Given the description of an element on the screen output the (x, y) to click on. 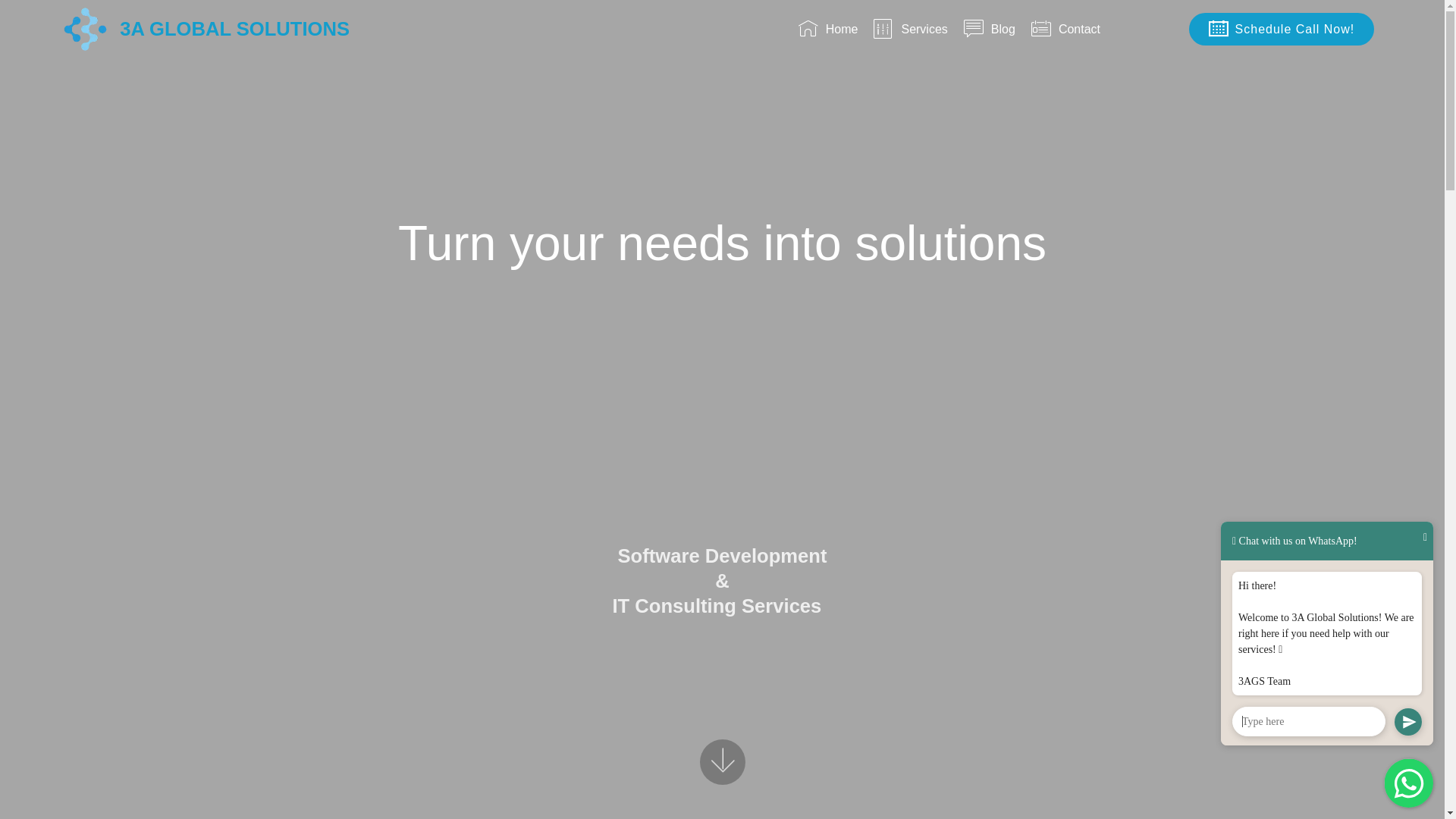
Services Element type: text (910, 28)
Home Element type: text (828, 28)
Blog Element type: text (989, 28)
Contact                      Element type: text (1101, 28)
3A GLOBAL SOLUTIONS Element type: text (246, 28)
Schedule Call Now! Element type: text (1281, 28)
